Given the description of an element on the screen output the (x, y) to click on. 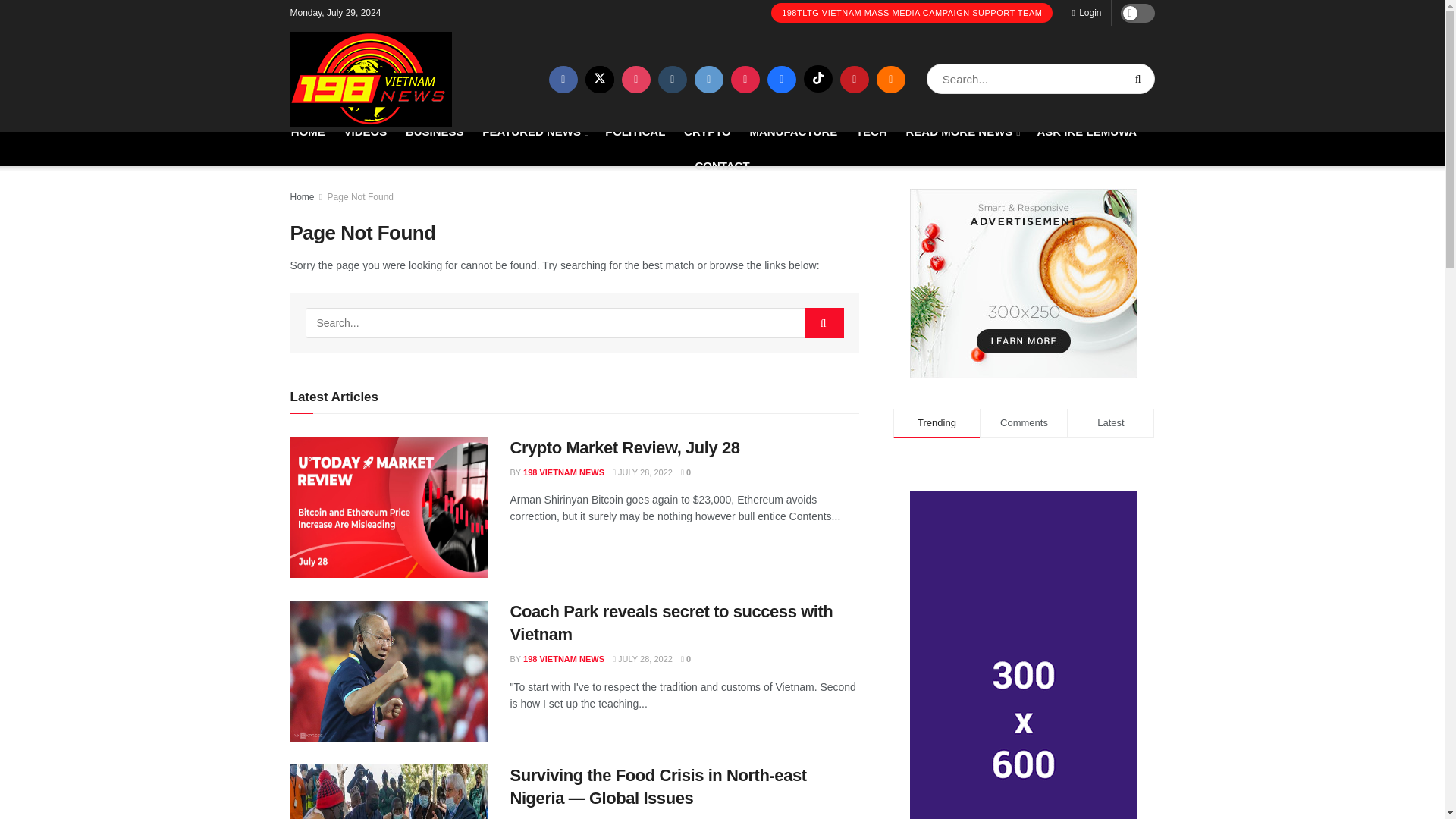
BUSINESS (435, 130)
MANUFACTURE (793, 130)
READ MORE NEWS (961, 130)
TECH (871, 130)
FEATURED NEWS (533, 130)
Coach Park reveals secret to success with Vietnam (387, 671)
POLITICAL (635, 130)
CRYPTO (707, 130)
VIDEOS (365, 130)
HOME (307, 130)
198TLTG VIETNAM MASS MEDIA CAMPAIGN SUPPORT TEAM (911, 12)
Crypto Market Review, July 28 (387, 507)
Login (1085, 12)
